Given the description of an element on the screen output the (x, y) to click on. 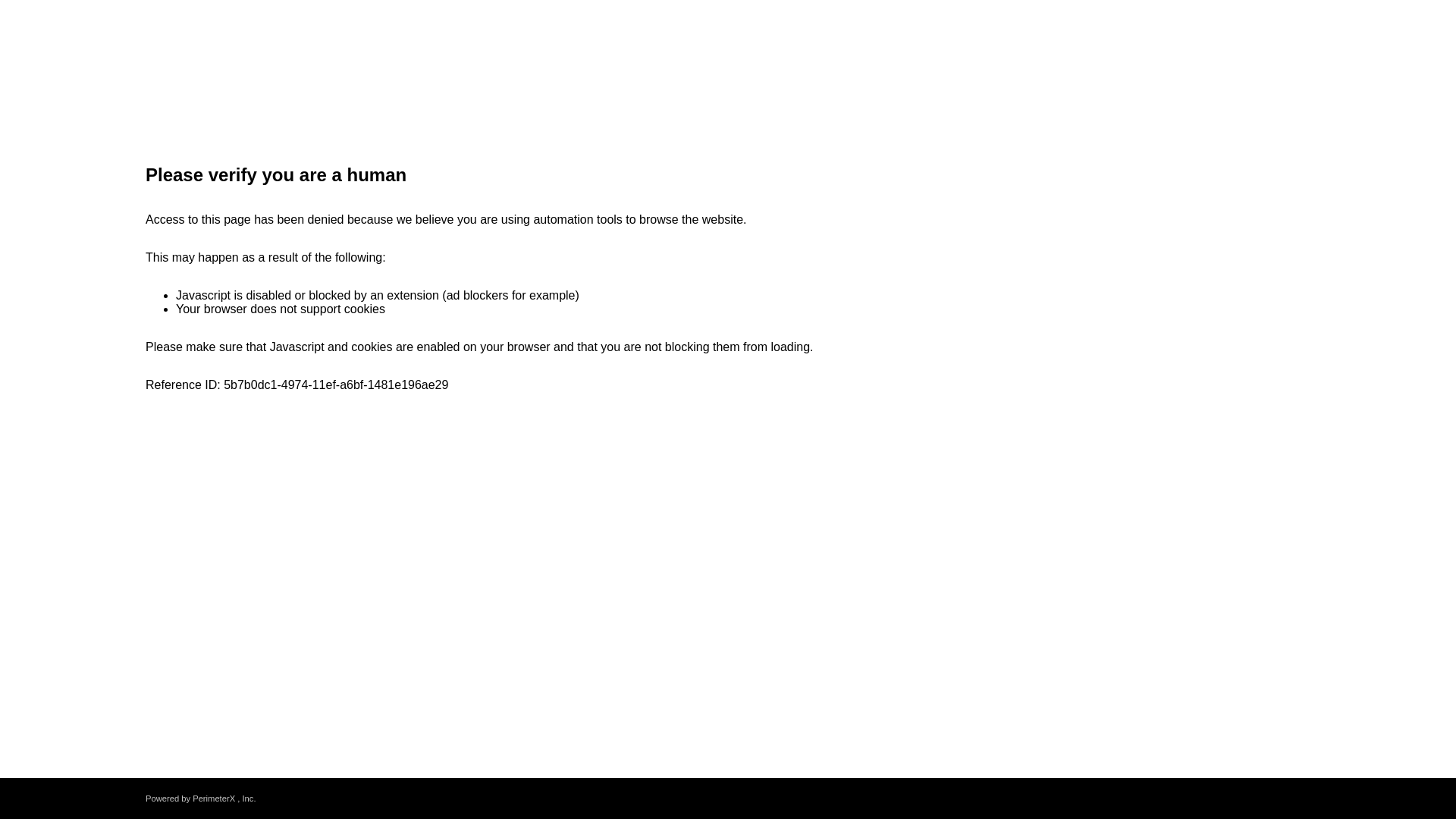
PerimeterX (213, 798)
